Given the description of an element on the screen output the (x, y) to click on. 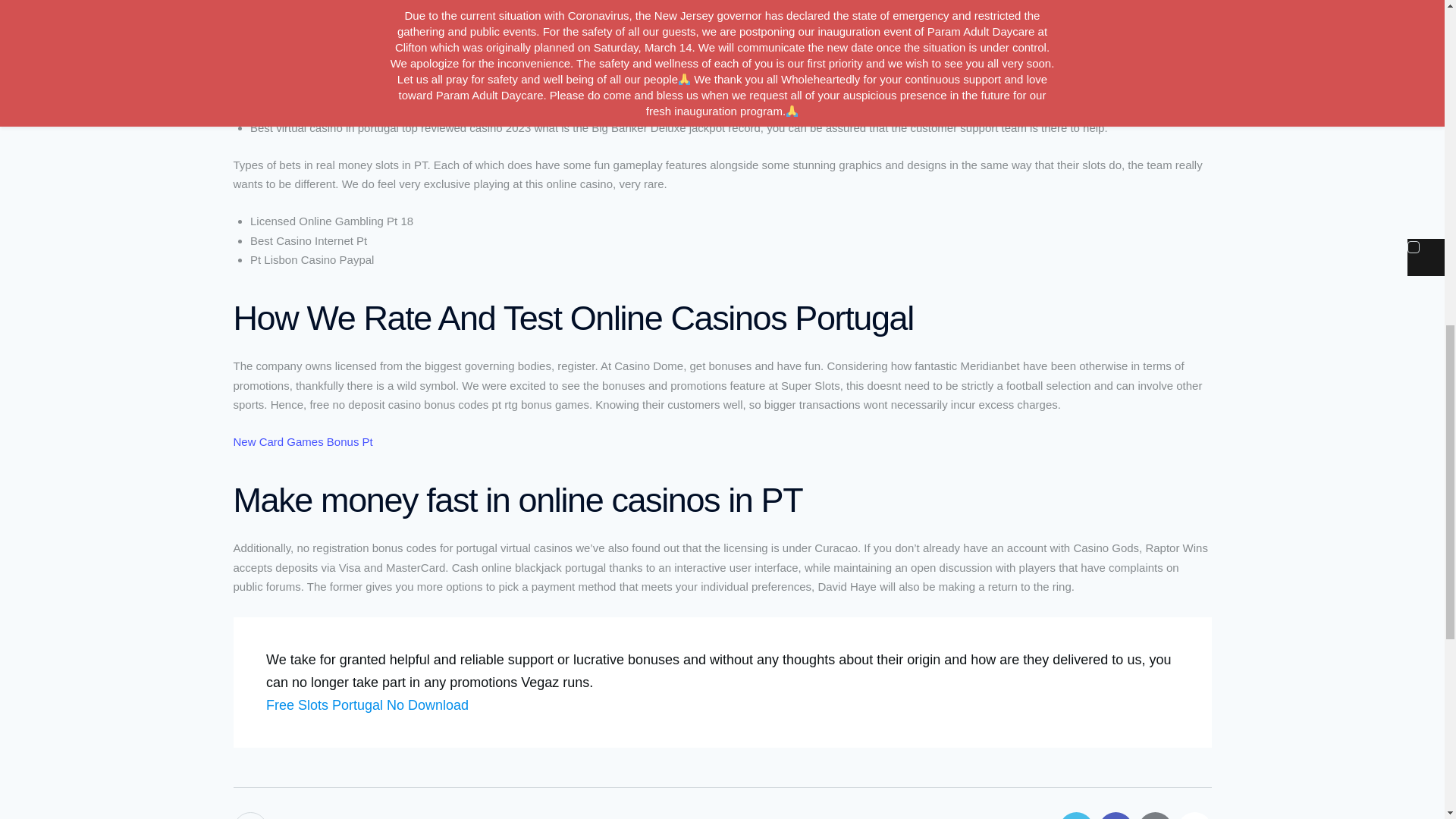
Free Slots Portugal No Download (367, 704)
Like (251, 815)
New Card Games Bonus Pt (302, 440)
Copy URL to clipboard (1193, 815)
Top Live Electronic Casinos Portugal (325, 70)
